Given the description of an element on the screen output the (x, y) to click on. 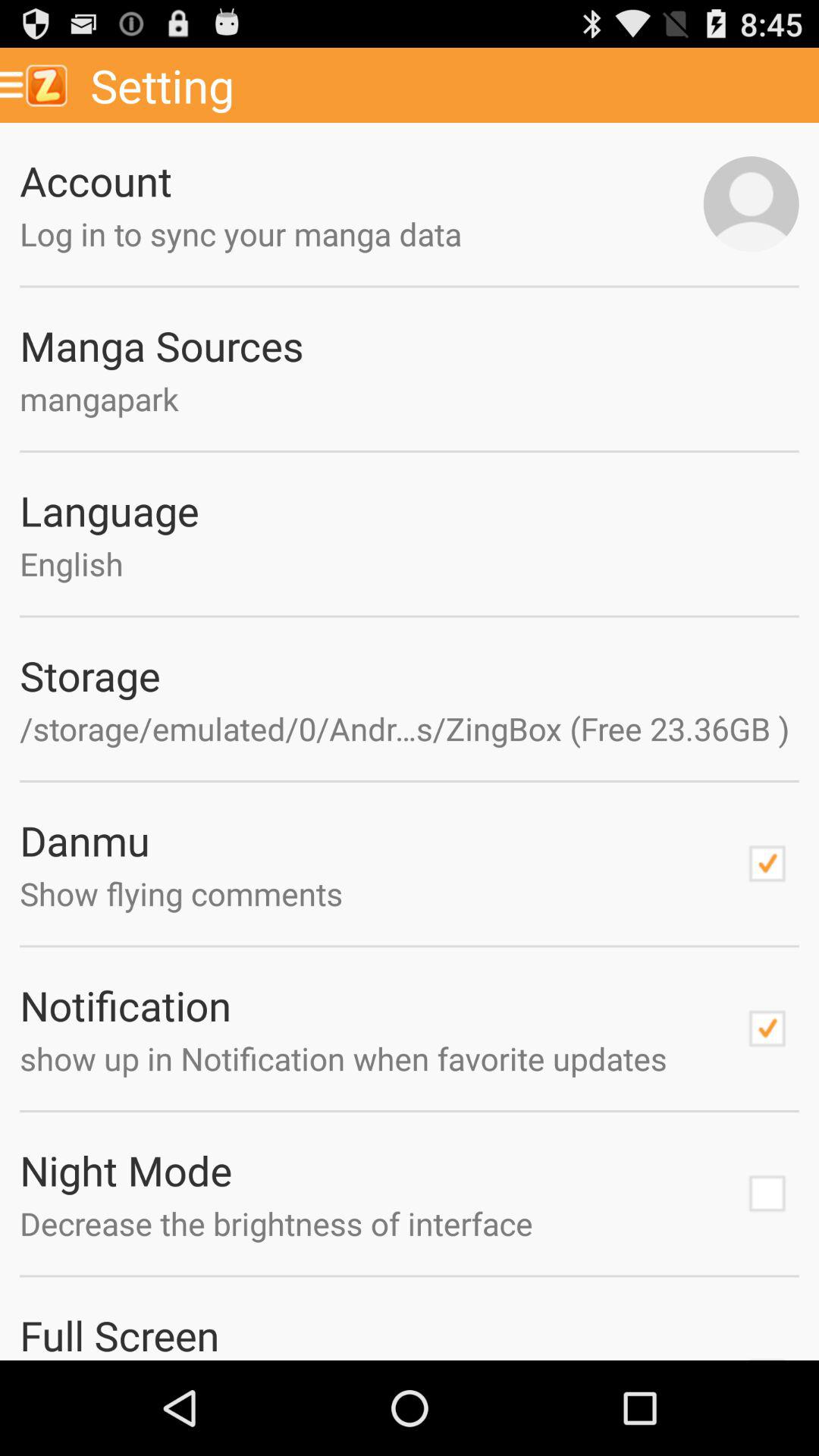
toggle notifications (767, 1028)
